Given the description of an element on the screen output the (x, y) to click on. 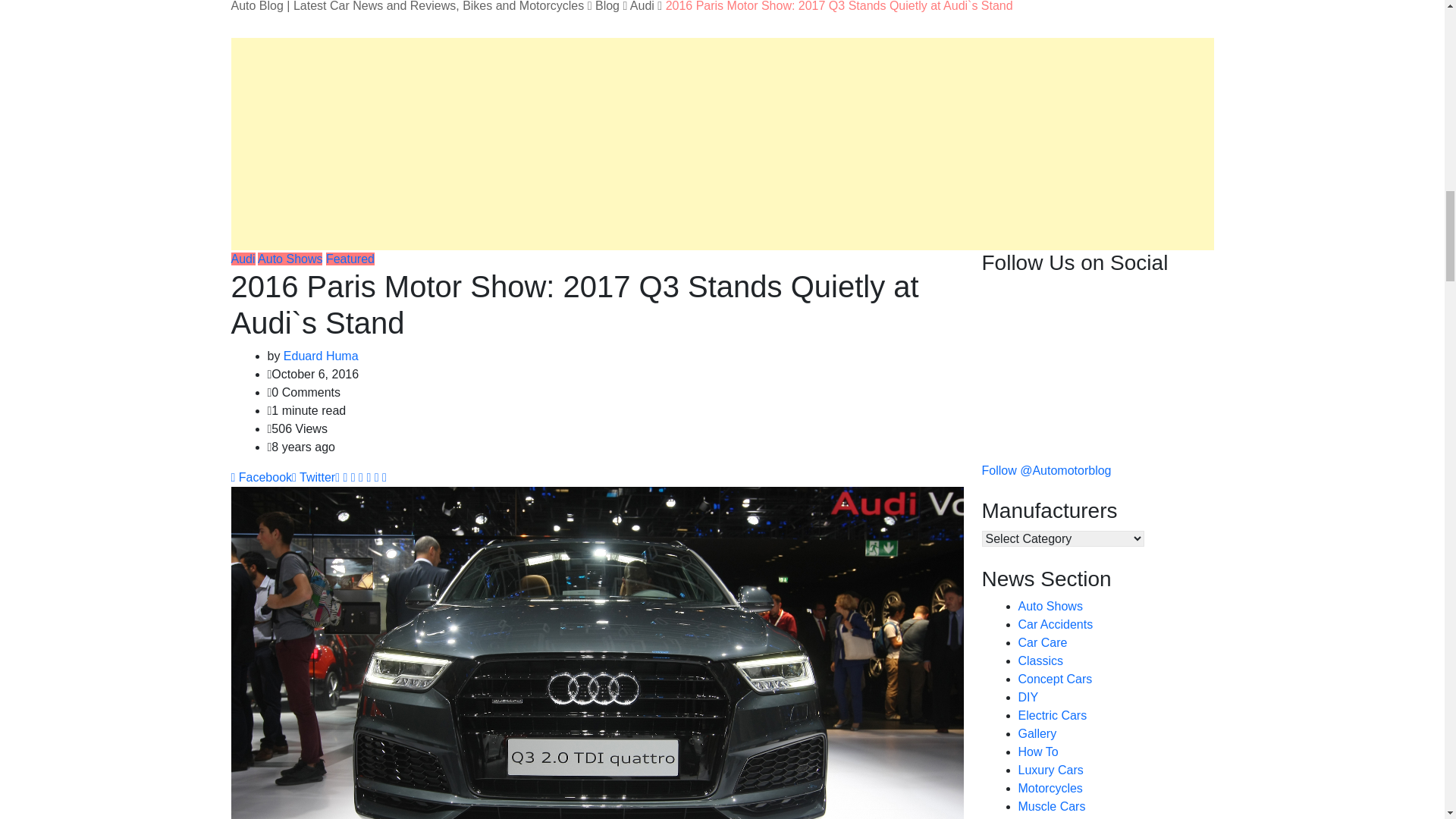
Posts by Eduard Huma (320, 355)
Go to Blog. (607, 6)
Go to the Audi Category archives. (641, 6)
